Given the description of an element on the screen output the (x, y) to click on. 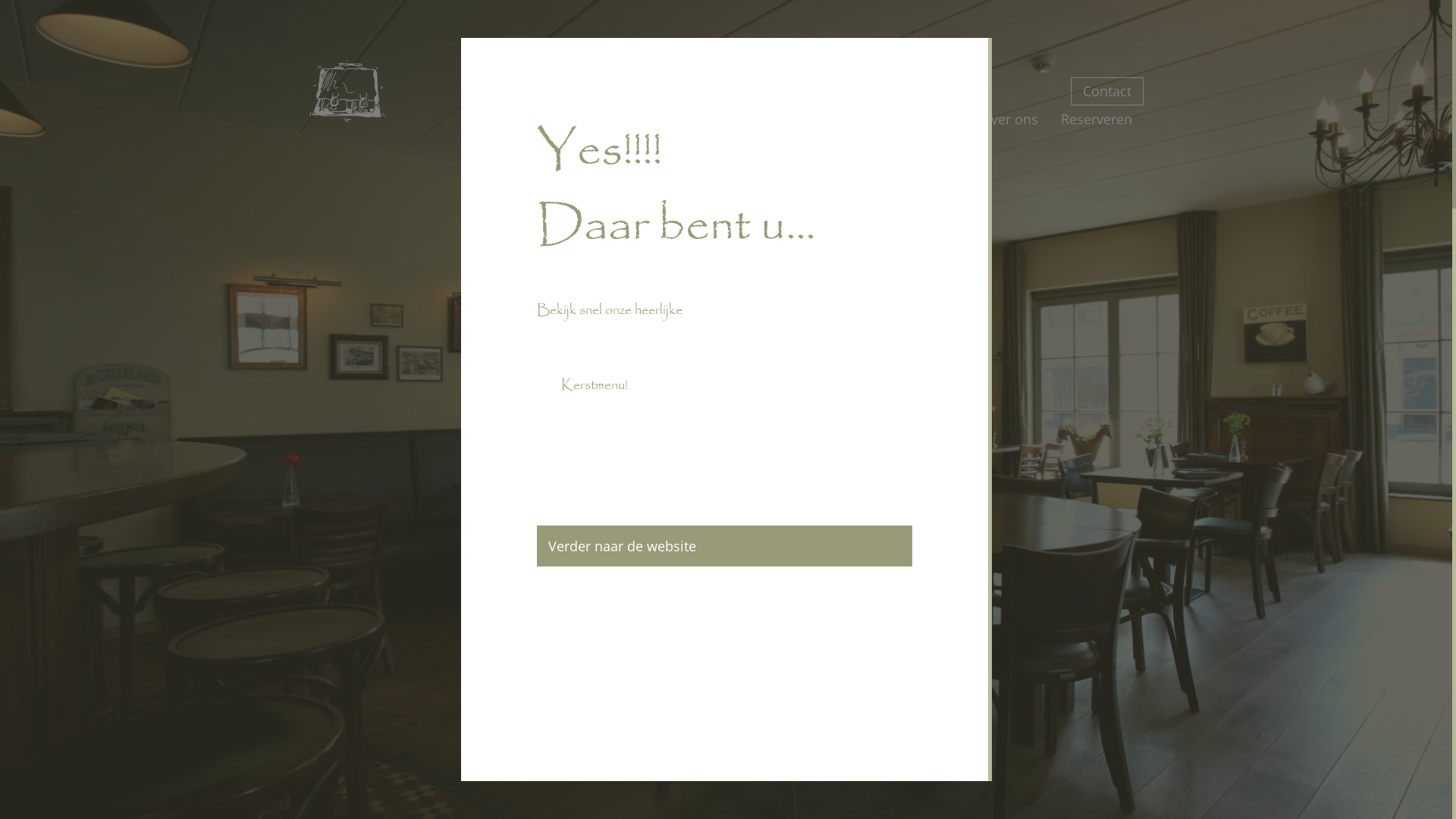
Verder naar de website Element type: text (724, 545)
